Given the description of an element on the screen output the (x, y) to click on. 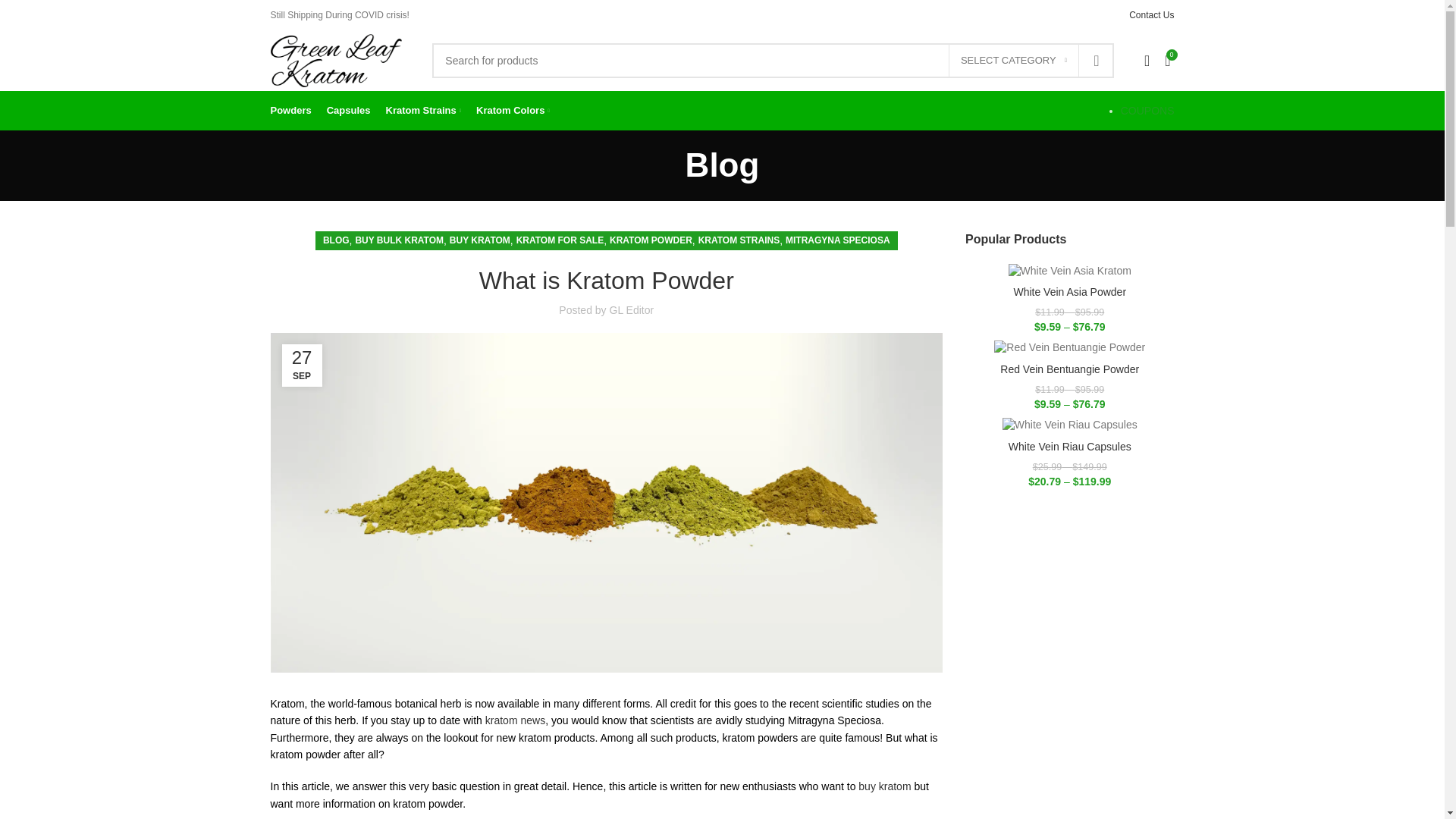
Capsules (348, 110)
Kratom Strains (423, 110)
SELECT CATEGORY (1013, 60)
Contact Us (1151, 15)
SEARCH (1095, 60)
Powders (290, 110)
SELECT CATEGORY (1013, 60)
Search for products (772, 60)
